Given the description of an element on the screen output the (x, y) to click on. 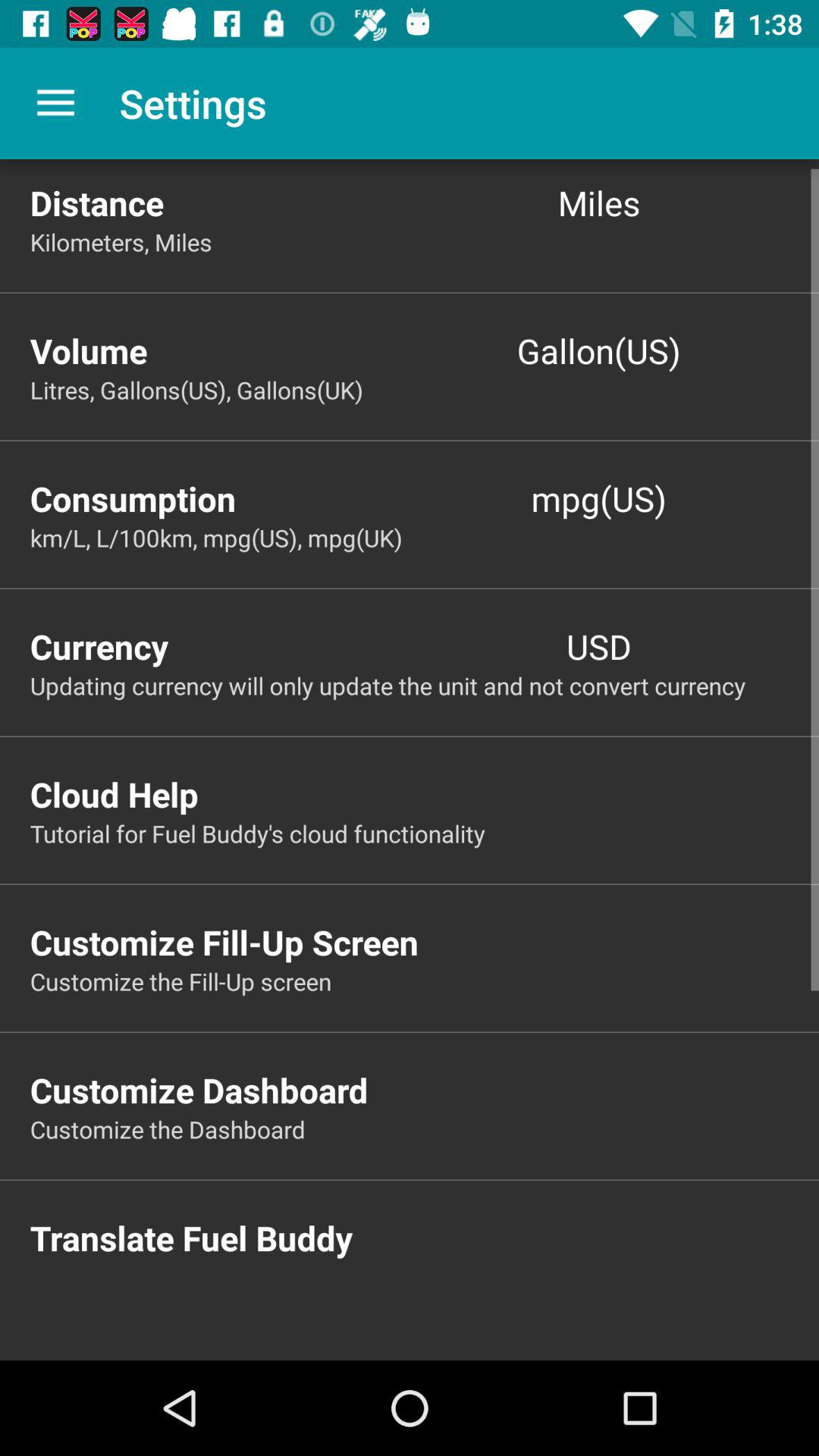
turn on item above currency icon (424, 537)
